Given the description of an element on the screen output the (x, y) to click on. 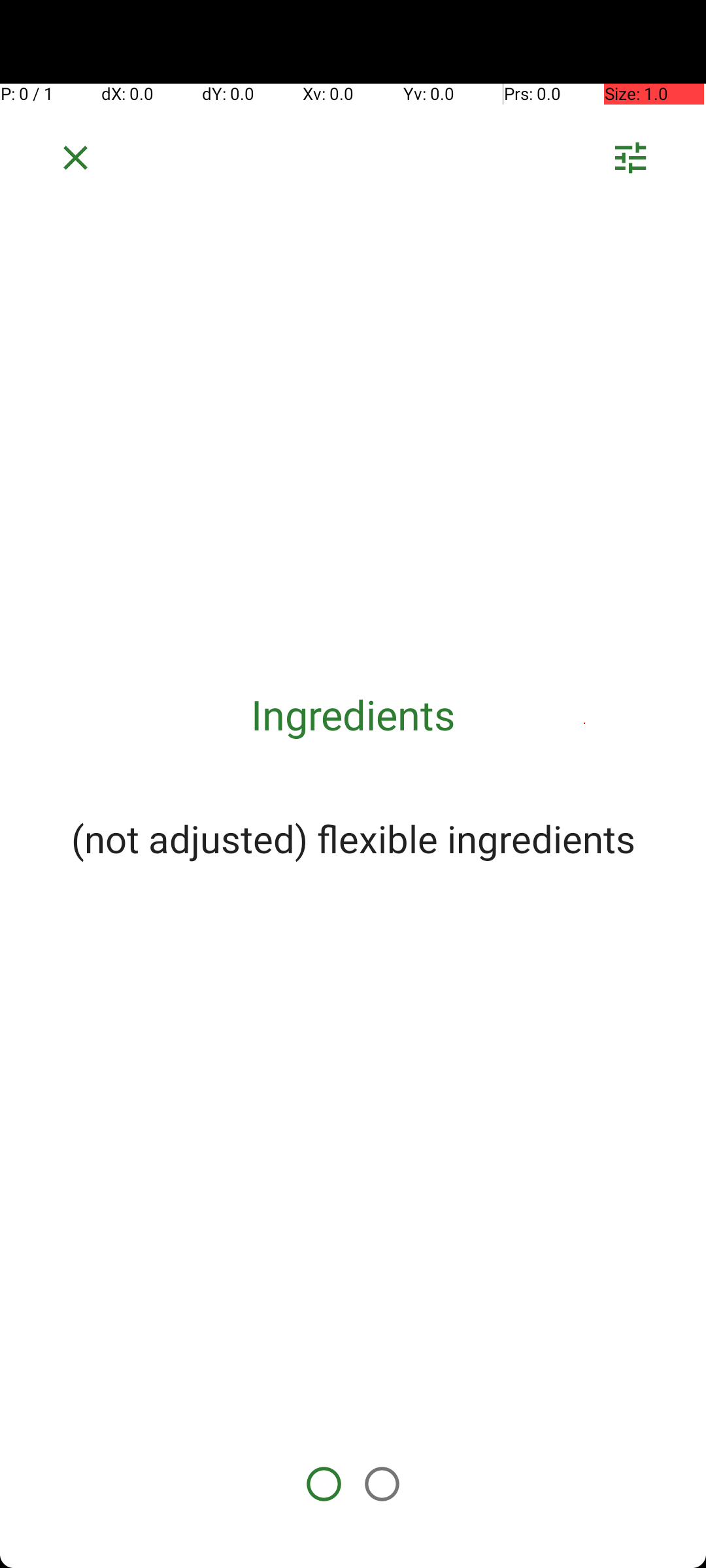
(not adjusted) flexible ingredients Element type: android.widget.TextView (352, 838)
